Given the description of an element on the screen output the (x, y) to click on. 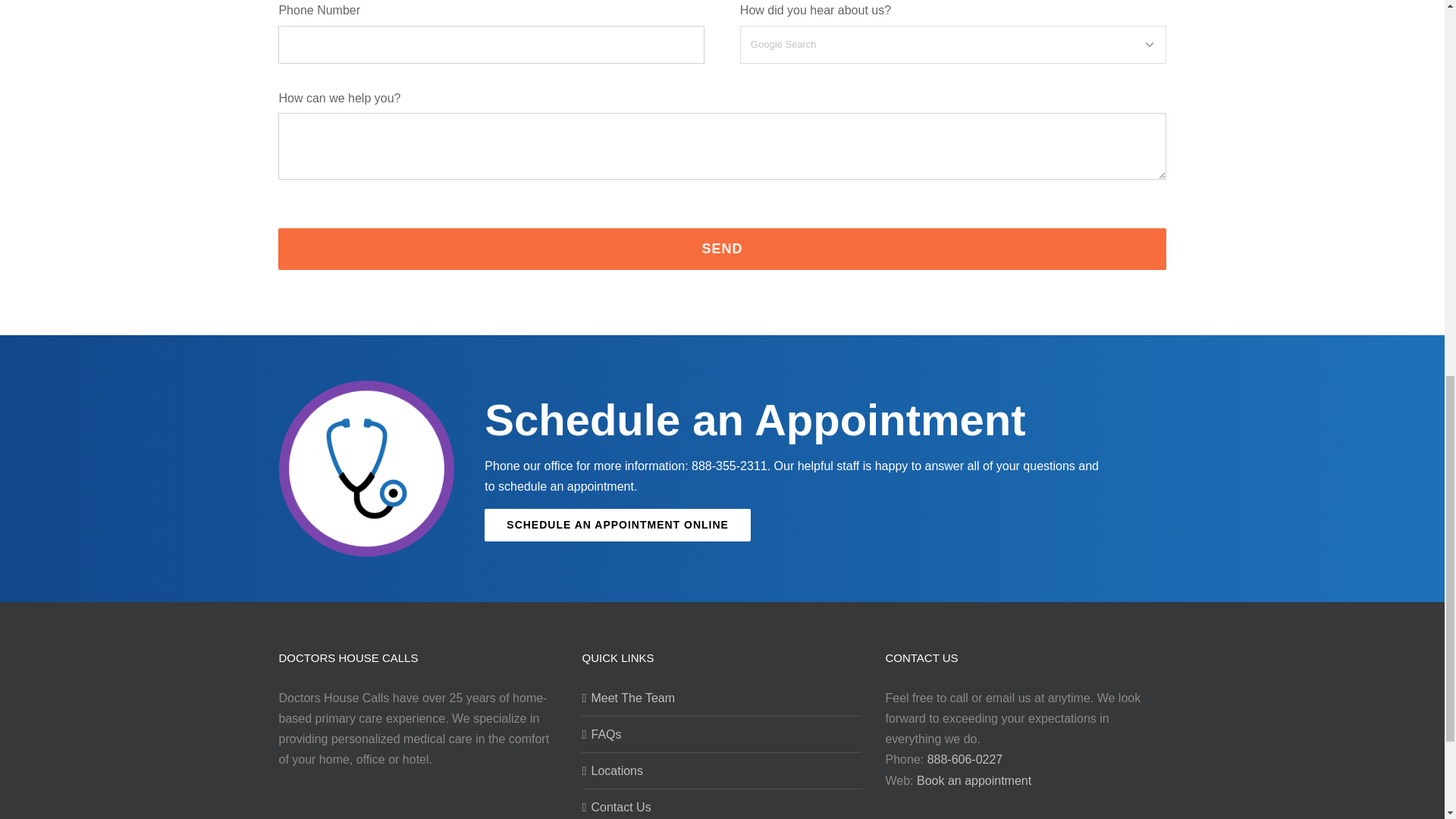
SCHEDULE AN APPOINTMENT ONLINE (617, 524)
Book an appointment (973, 780)
Contact Us (722, 806)
Locations (722, 770)
888-606-0227 (965, 759)
Meet The Team (722, 697)
SEND (722, 249)
FAQs (722, 733)
